Given the description of an element on the screen output the (x, y) to click on. 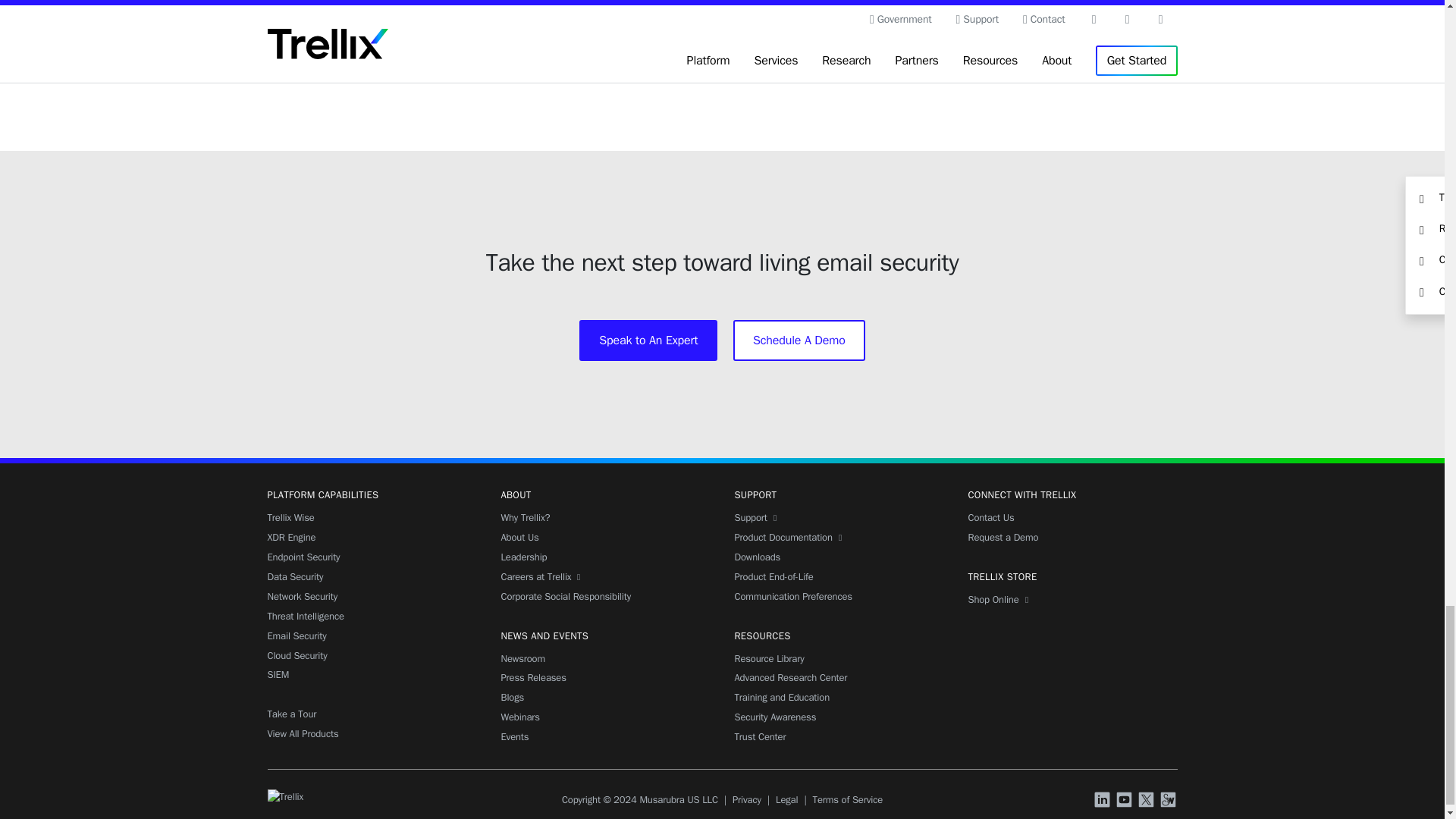
Trellix LinkedIn (1103, 800)
Soulful Work (1169, 800)
Trellix YouTube (1125, 800)
Trellix (284, 795)
Trellix X (1147, 800)
